Given the description of an element on the screen output the (x, y) to click on. 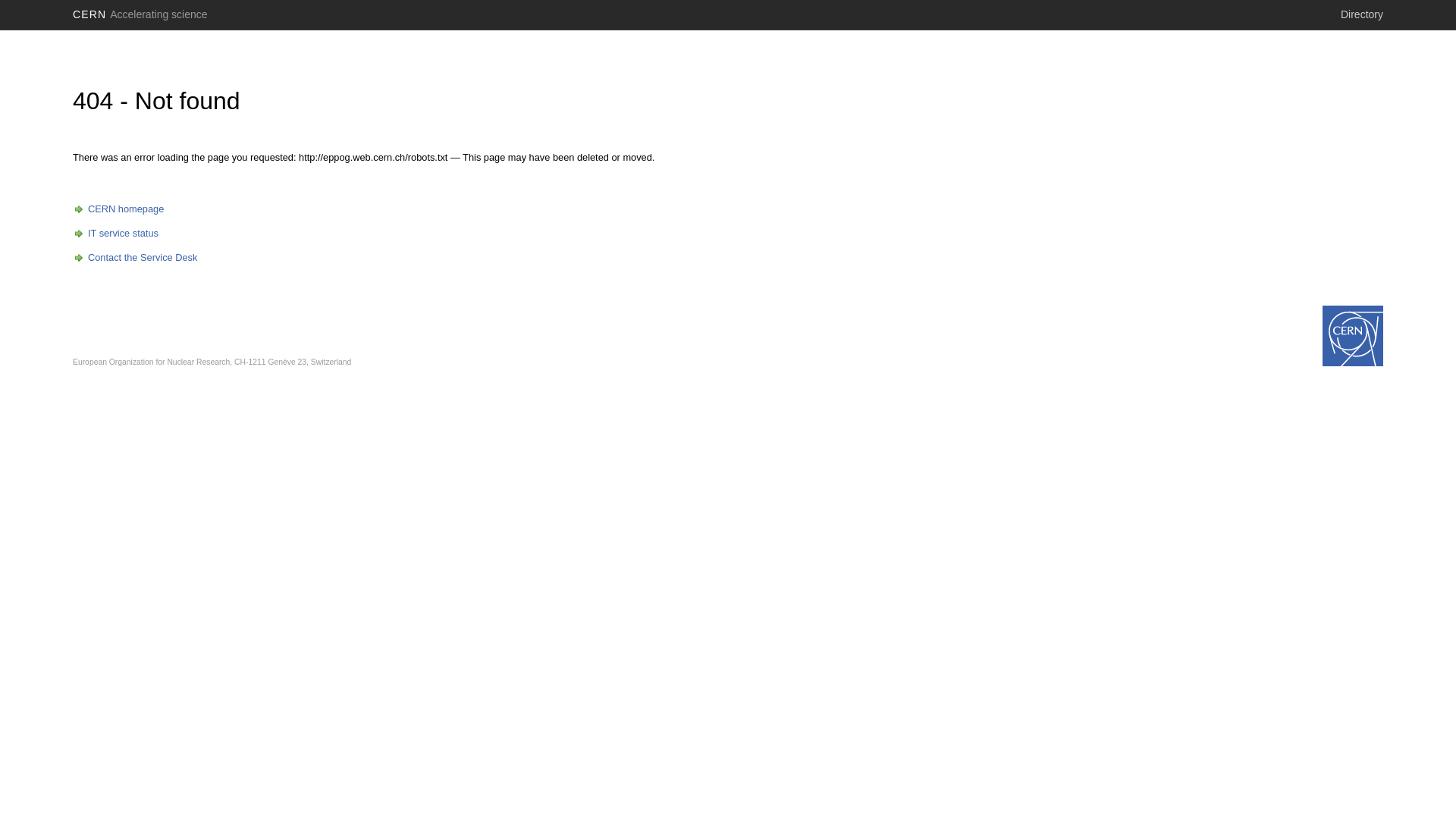
Directory Element type: text (1361, 14)
Contact the Service Desk Element type: text (134, 257)
CERN homepage Element type: text (117, 208)
CERN Accelerating science Element type: text (139, 14)
IT service status Element type: text (115, 232)
home.cern Element type: hover (1352, 335)
